Given the description of an element on the screen output the (x, y) to click on. 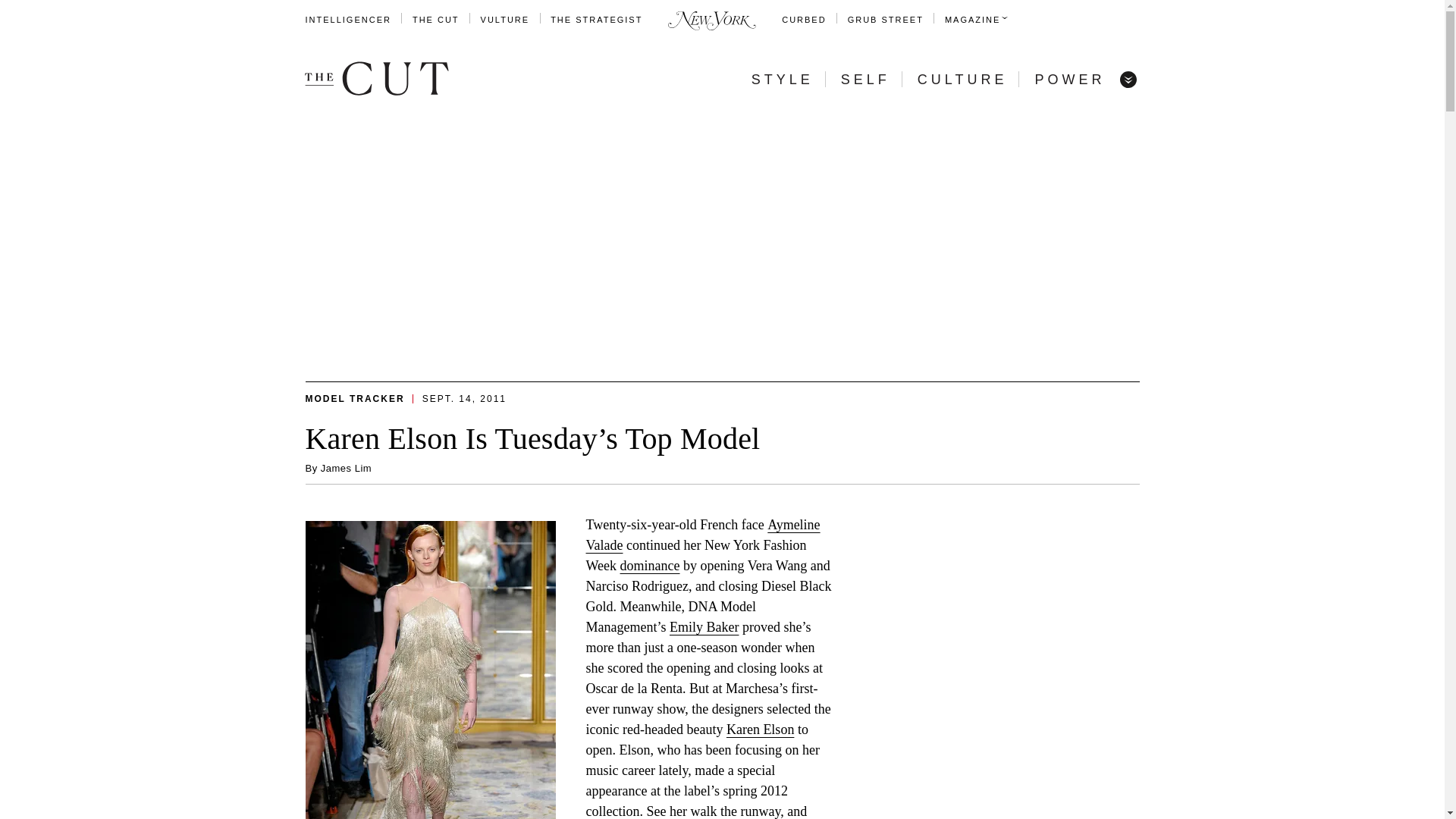
CULTURE (962, 79)
MAGAZINE (972, 19)
THE STRATEGIST (596, 19)
CURBED (803, 19)
POWER (1069, 79)
INTELLIGENCER (347, 19)
GRUB STREET (885, 19)
SELF (865, 79)
Menu (1127, 78)
STYLE (782, 79)
THE CUT (436, 19)
VULTURE (504, 19)
